Given the description of an element on the screen output the (x, y) to click on. 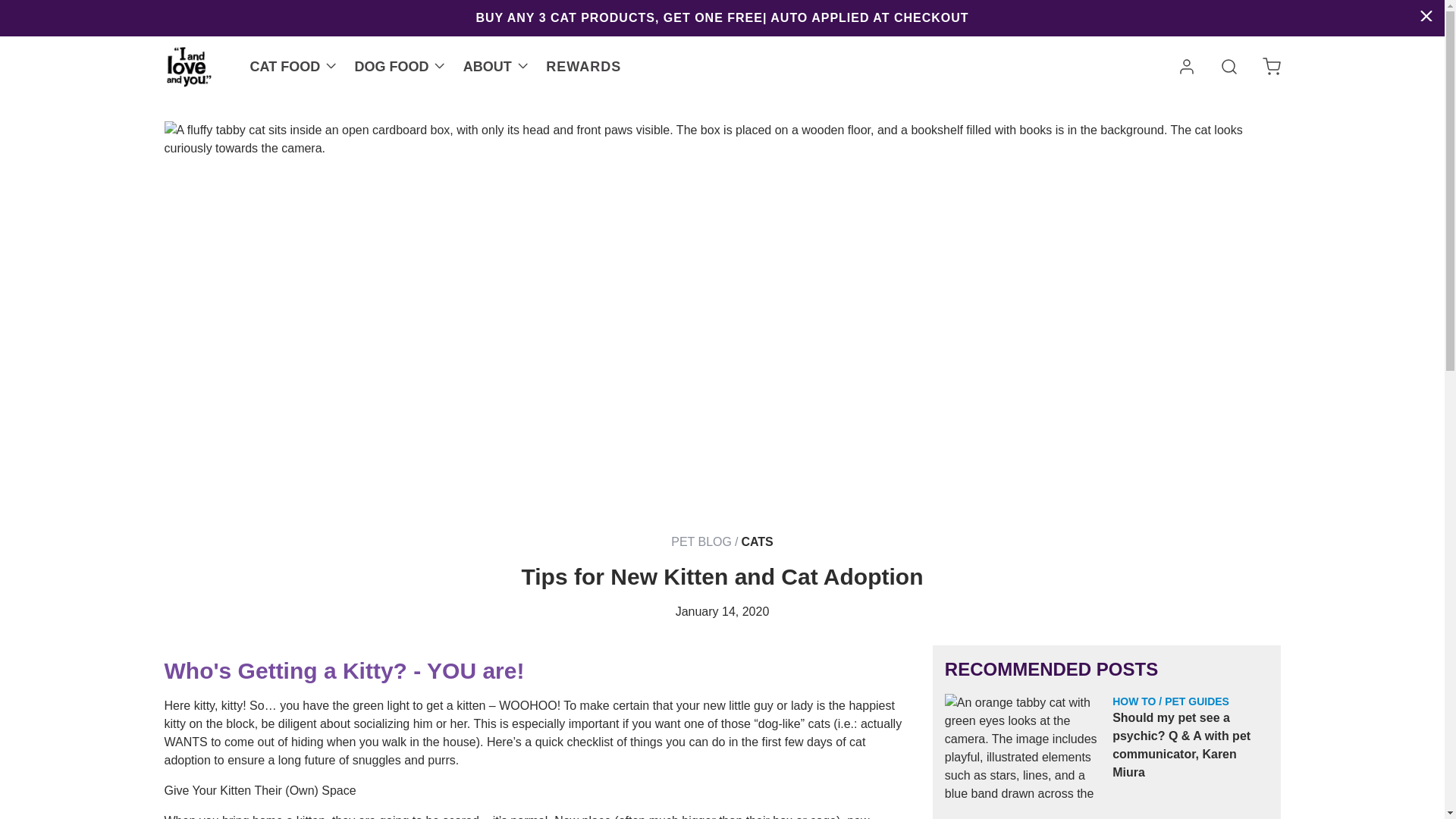
ABOUT (487, 66)
DOG FOOD (390, 66)
CAT FOOD (285, 66)
SKIP TO CONTENT (17, 8)
